Given the description of an element on the screen output the (x, y) to click on. 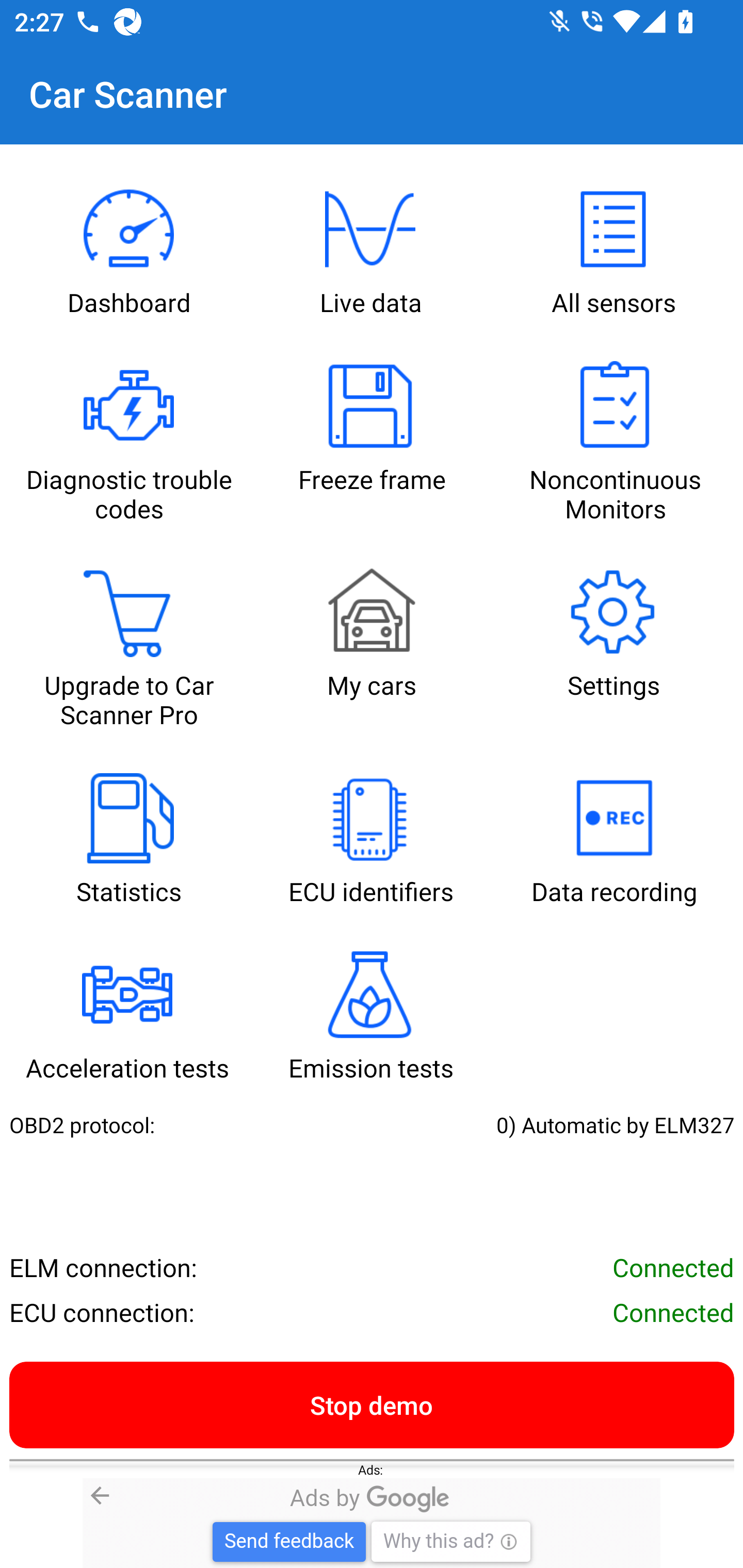
Stop demo (371, 1404)
